Given the description of an element on the screen output the (x, y) to click on. 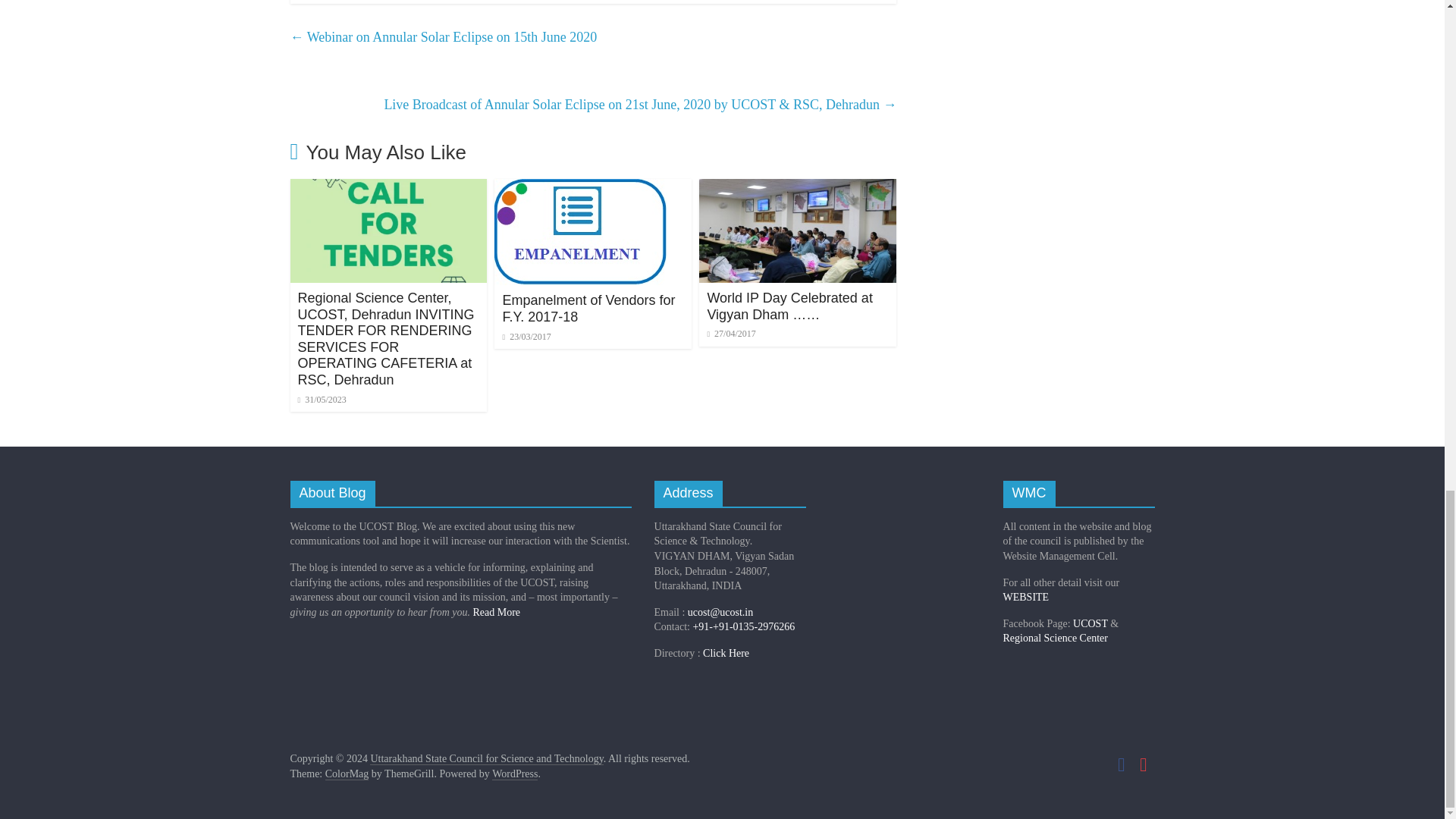
Empanelment of Vendors for F.Y. 2017-18 (580, 187)
10:17 am (526, 336)
Empanelment of Vendors for F.Y. 2017-18 (588, 308)
5:56 pm (321, 398)
